Given the description of an element on the screen output the (x, y) to click on. 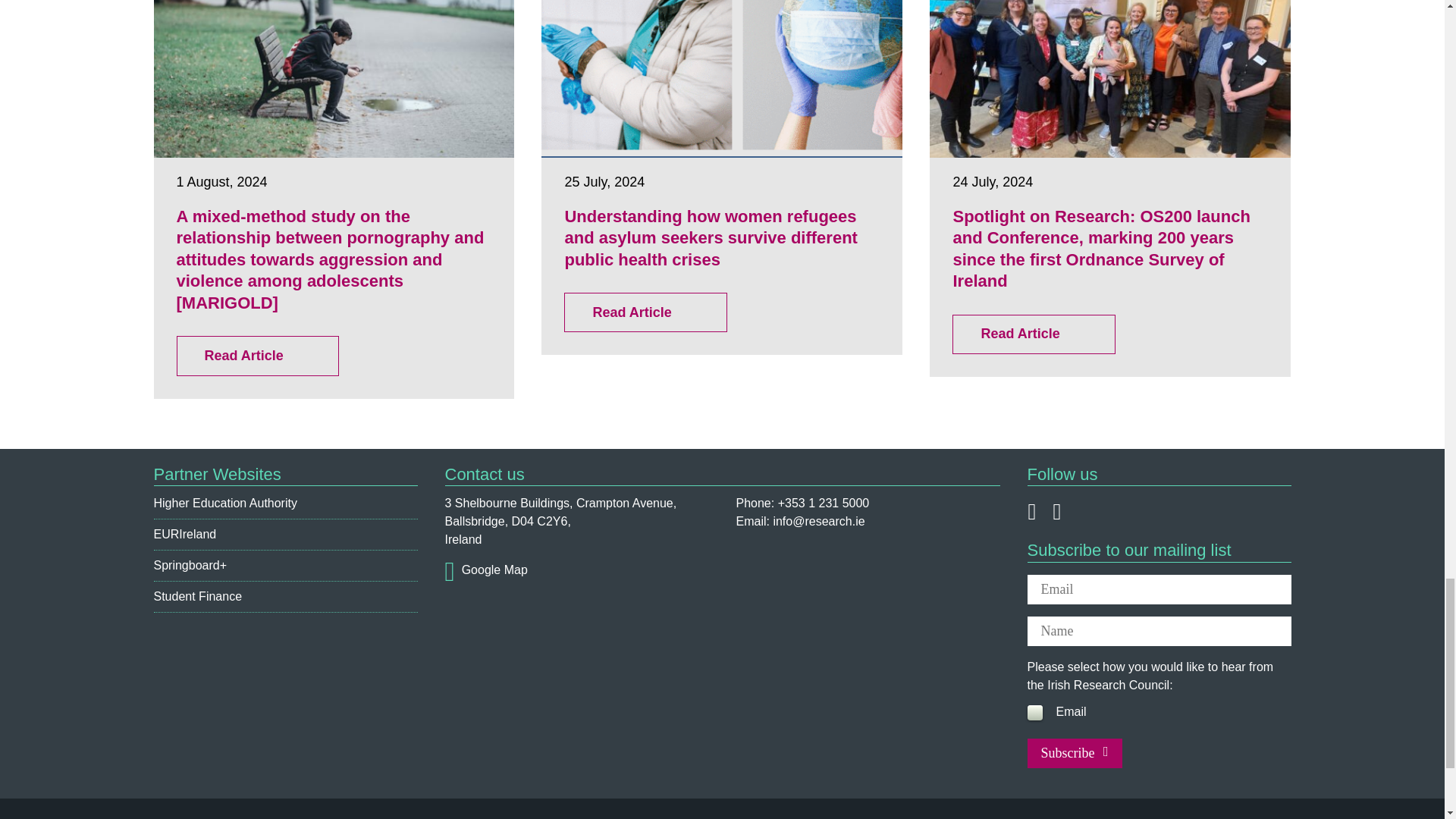
Read Article (645, 312)
Read Article (1033, 333)
Read Article (256, 355)
